Given the description of an element on the screen output the (x, y) to click on. 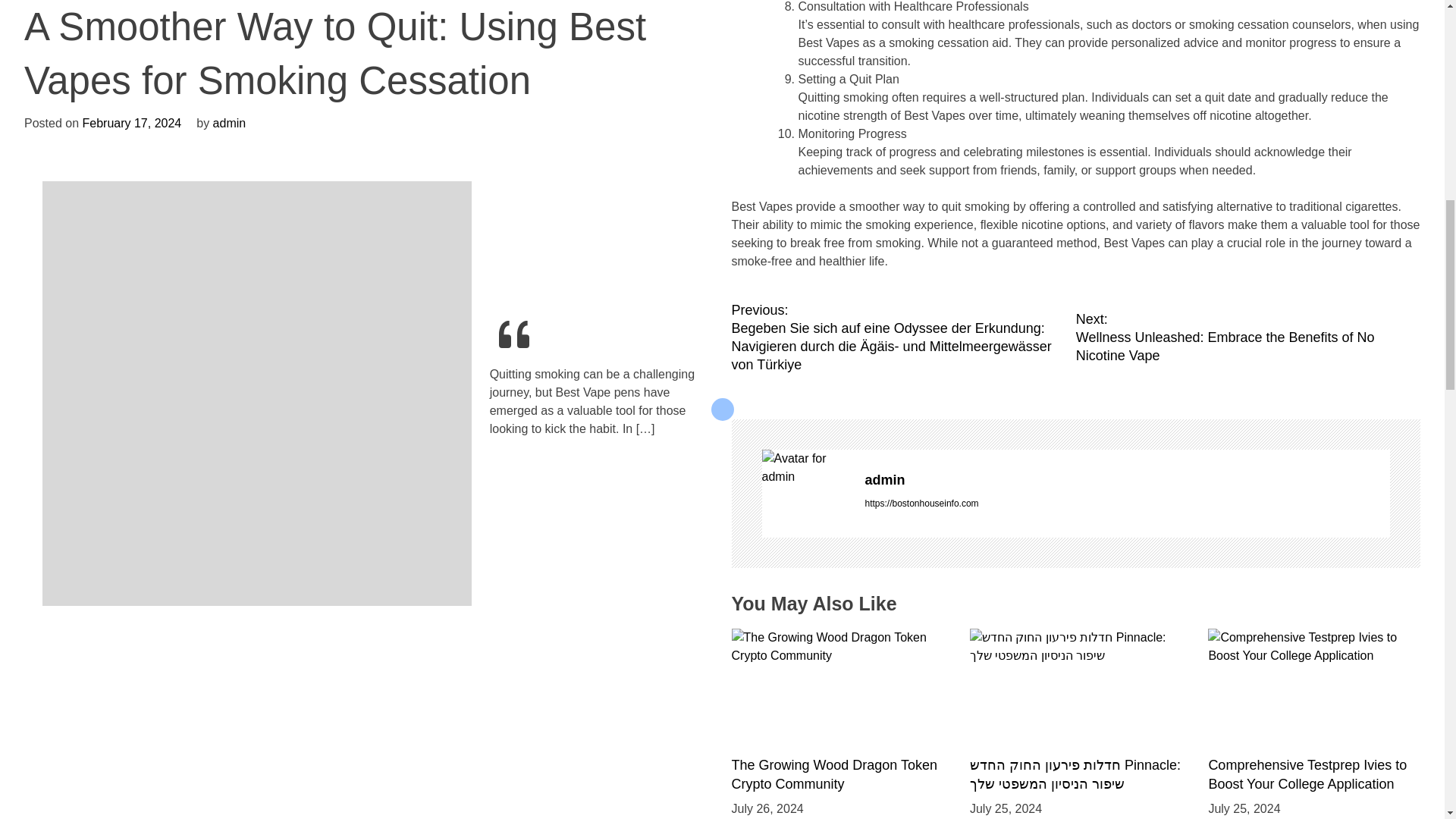
The Growing Wood Dragon Token Crypto Community (833, 774)
admin (1127, 479)
admin (1127, 479)
admin (804, 467)
